Given the description of an element on the screen output the (x, y) to click on. 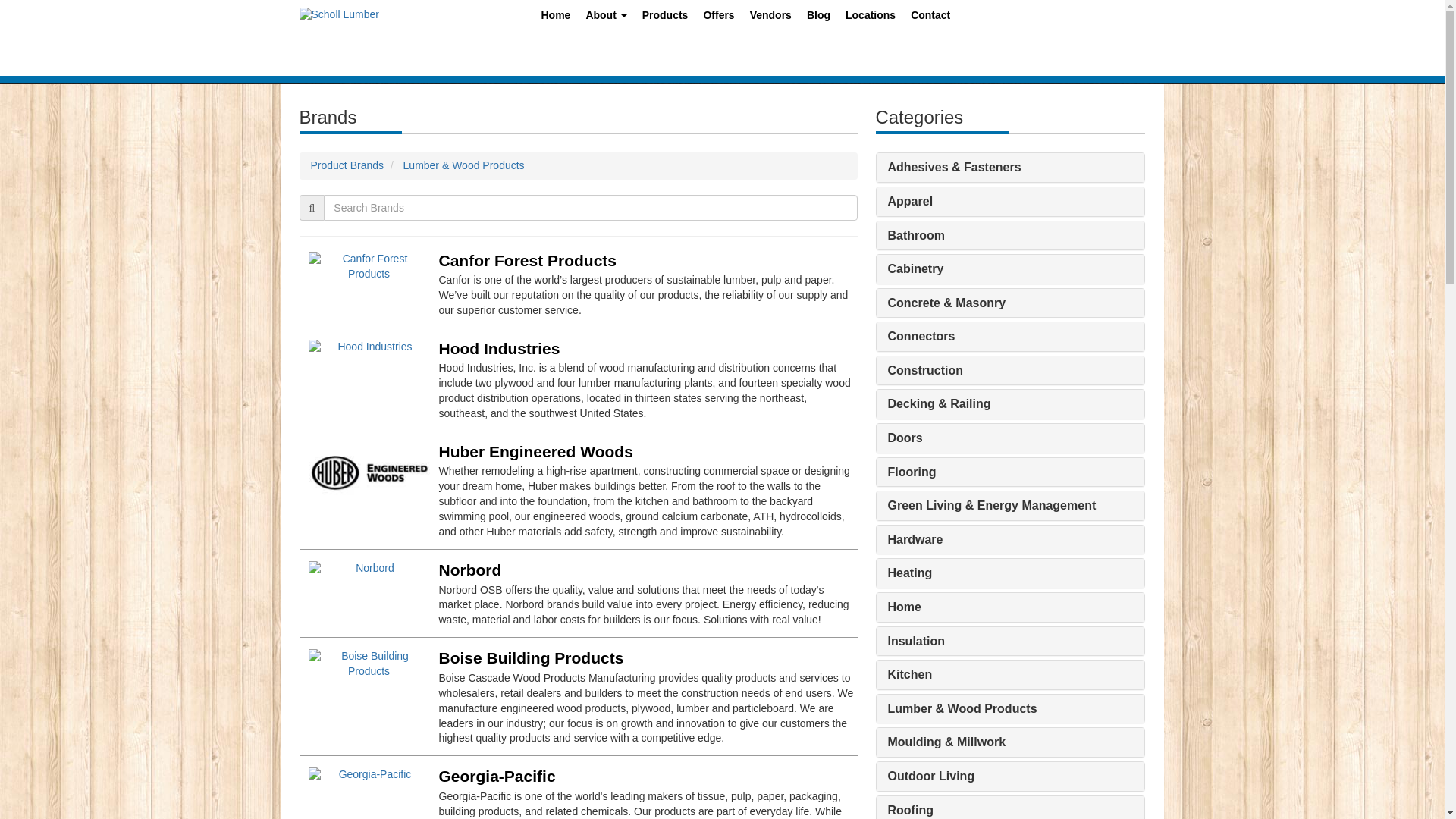
Offers (718, 18)
Locations (870, 18)
Contact (930, 18)
Home (556, 18)
Product Brands (347, 164)
Georgia-Pacific (496, 775)
Canfor Forest Products (526, 260)
Hood Industries (498, 348)
About (605, 18)
Vendors (770, 18)
Norbord (469, 569)
Products (664, 18)
Blog (818, 18)
Boise Building Products (530, 657)
Huber Engineered Woods (534, 451)
